Given the description of an element on the screen output the (x, y) to click on. 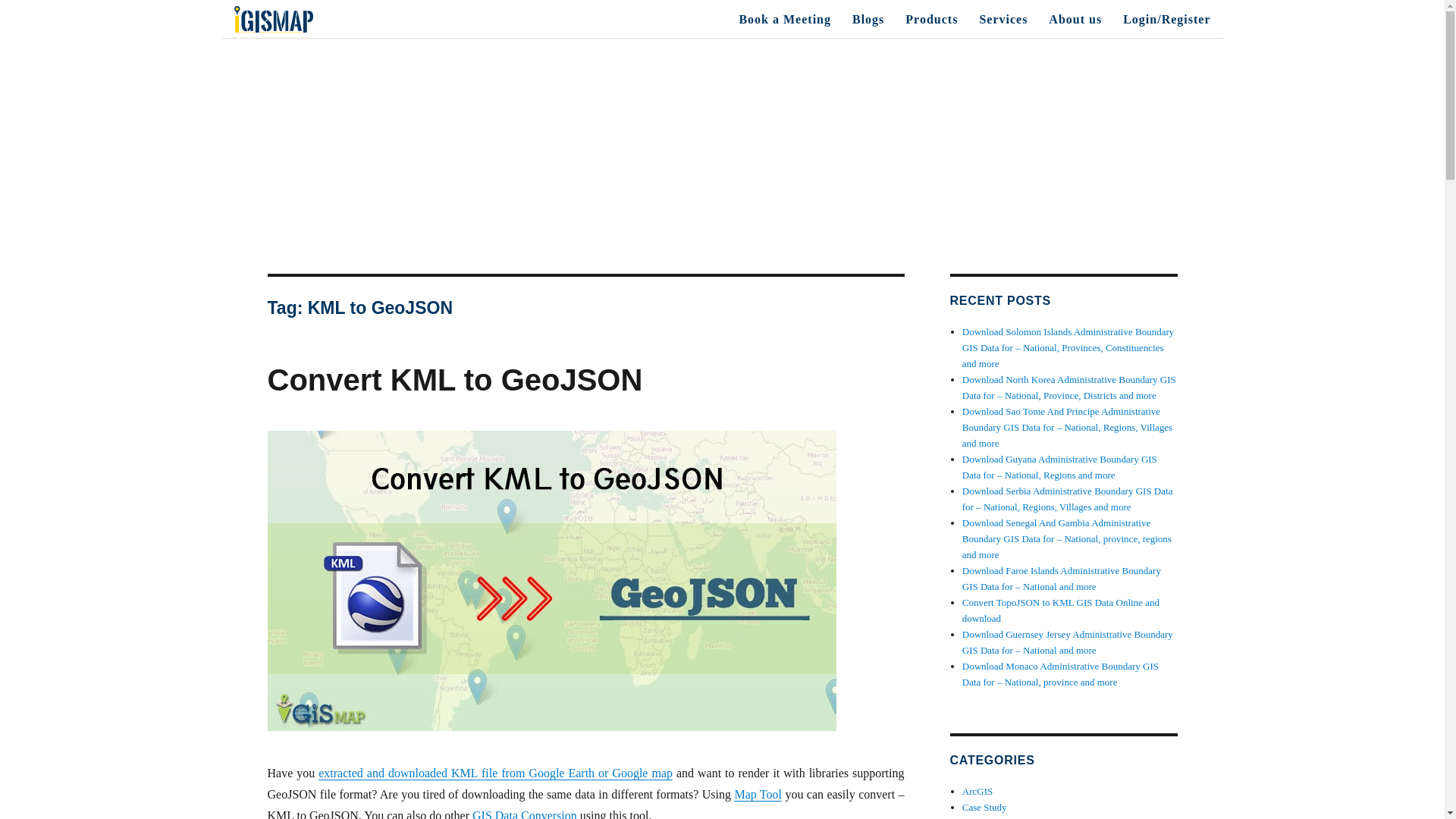
About us (1075, 19)
Blogs (868, 19)
Products (931, 19)
Book a Meeting (784, 19)
Convert KML to GeoJSON (454, 379)
GIS Data Conversion (523, 814)
Map Tool (757, 793)
Services (1003, 19)
